Given the description of an element on the screen output the (x, y) to click on. 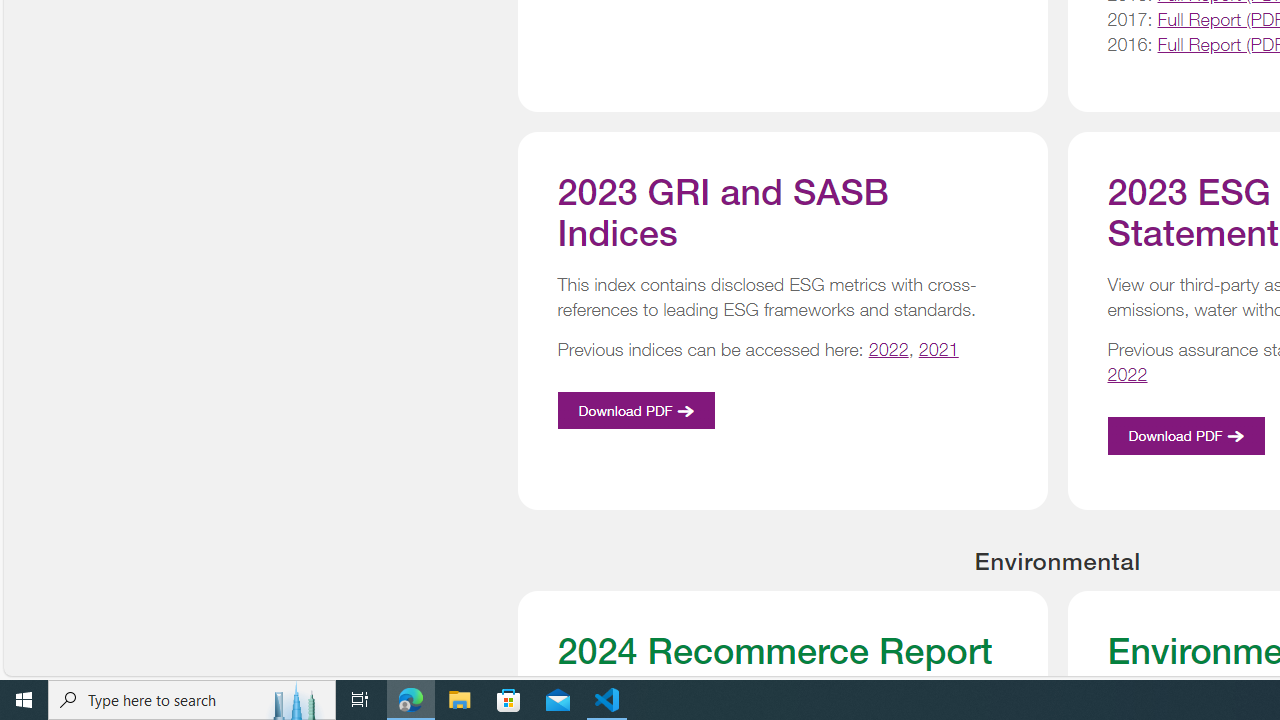
2021 (937, 349)
2022 (1127, 374)
